Given the description of an element on the screen output the (x, y) to click on. 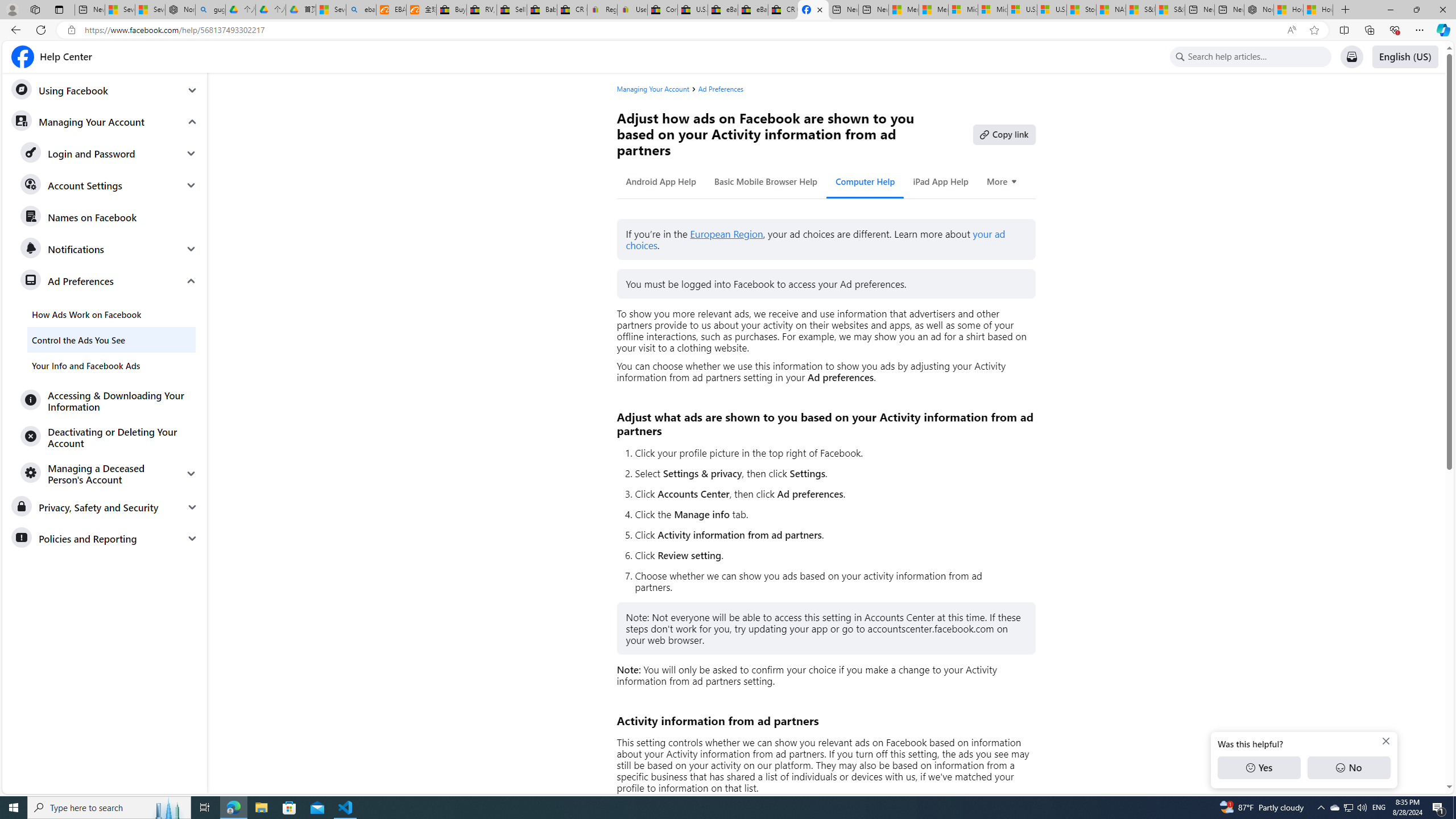
Click Review setting. (829, 555)
Basic Mobile Browser Help (765, 181)
Managing a Deceased Person's Account (108, 473)
Facebook Help Center (51, 56)
U.S. State Privacy Disclosures - eBay Inc. (691, 9)
How Ads Work on Facebook (111, 313)
Deactivating or Deleting Your Account (108, 436)
eBay Inc. Reports Third Quarter 2023 Results (753, 9)
Class: x1lliihq x1tzjh5l x1k90msu x2h7rmj x1qfuztq x19dipnz (22, 56)
Control the Ads You See (111, 339)
Control the Ads You See (111, 339)
